Given the description of an element on the screen output the (x, y) to click on. 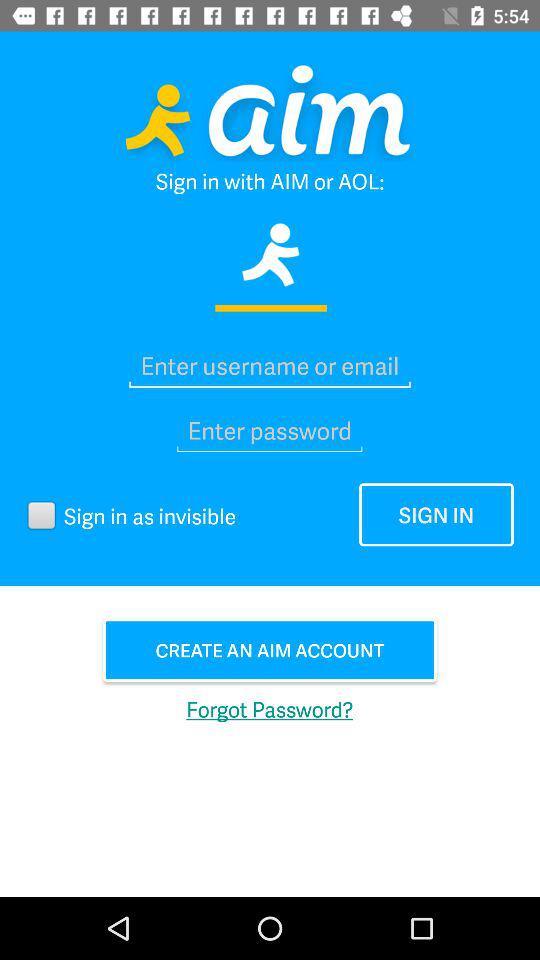
launch the forgot password? icon (269, 708)
